Given the description of an element on the screen output the (x, y) to click on. 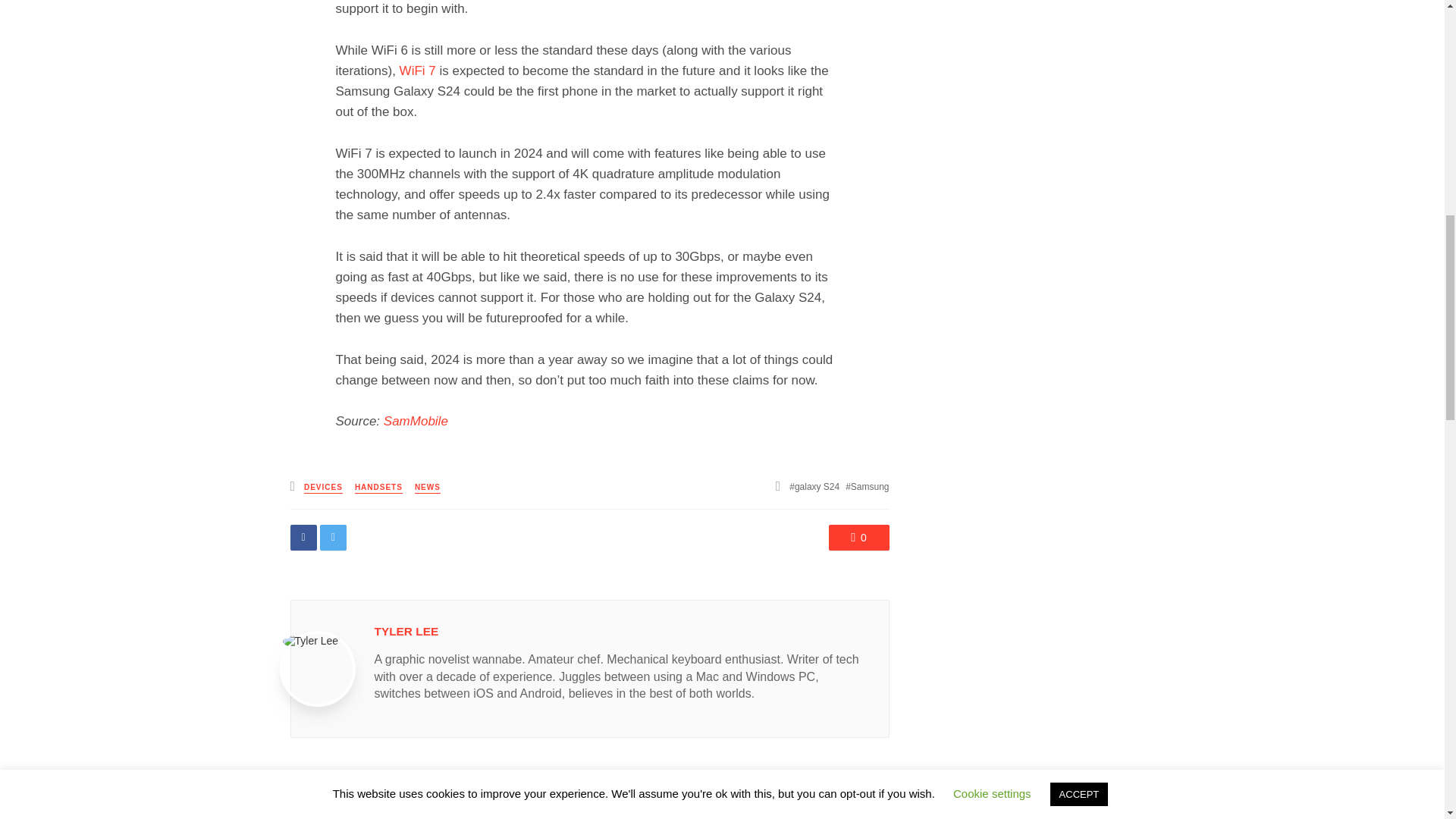
SamMobile (416, 421)
HANDSETS (379, 487)
NEWS (427, 487)
galaxy S24 (814, 486)
Posts by Tyler Lee (406, 631)
0 (858, 537)
Samsung (866, 486)
WiFi 7 (416, 70)
DEVICES (323, 487)
